Given the description of an element on the screen output the (x, y) to click on. 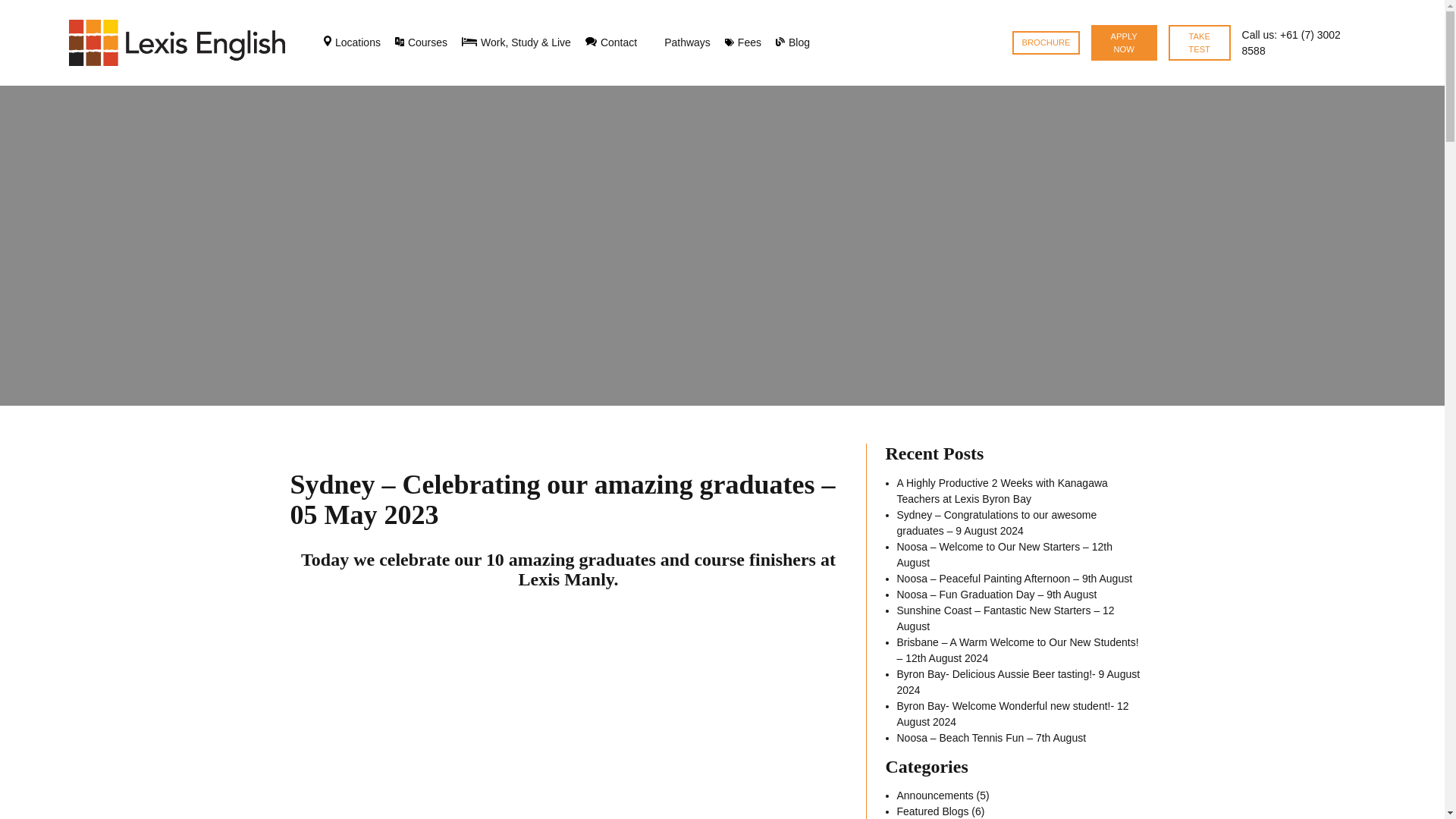
Courses (421, 42)
Locations (351, 42)
Locations (351, 42)
Contact (610, 42)
